Given the description of an element on the screen output the (x, y) to click on. 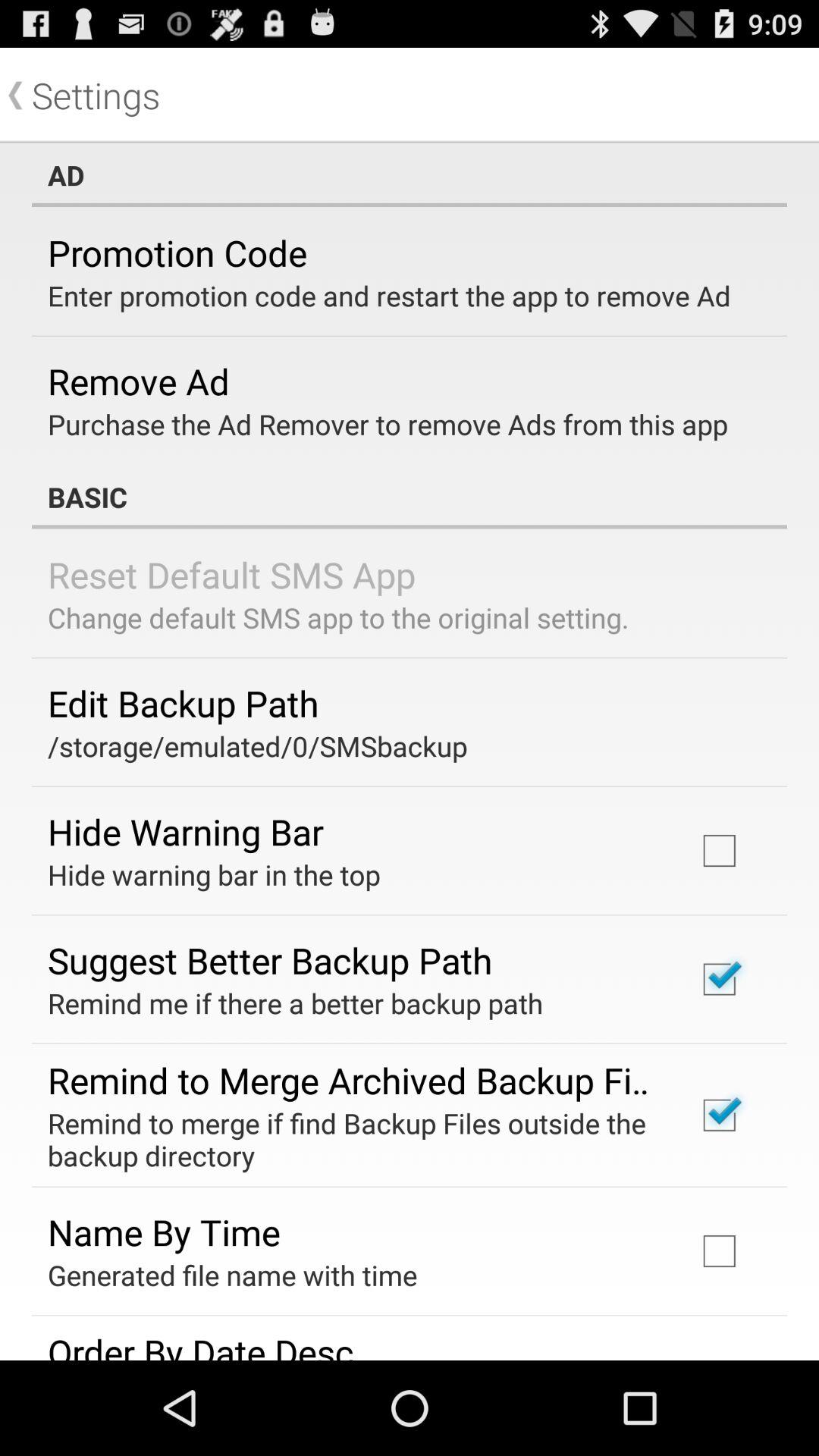
select the check box that is to the right of hide warning bar (719, 850)
the second checkbox from the top of the page (719, 979)
